Given the description of an element on the screen output the (x, y) to click on. 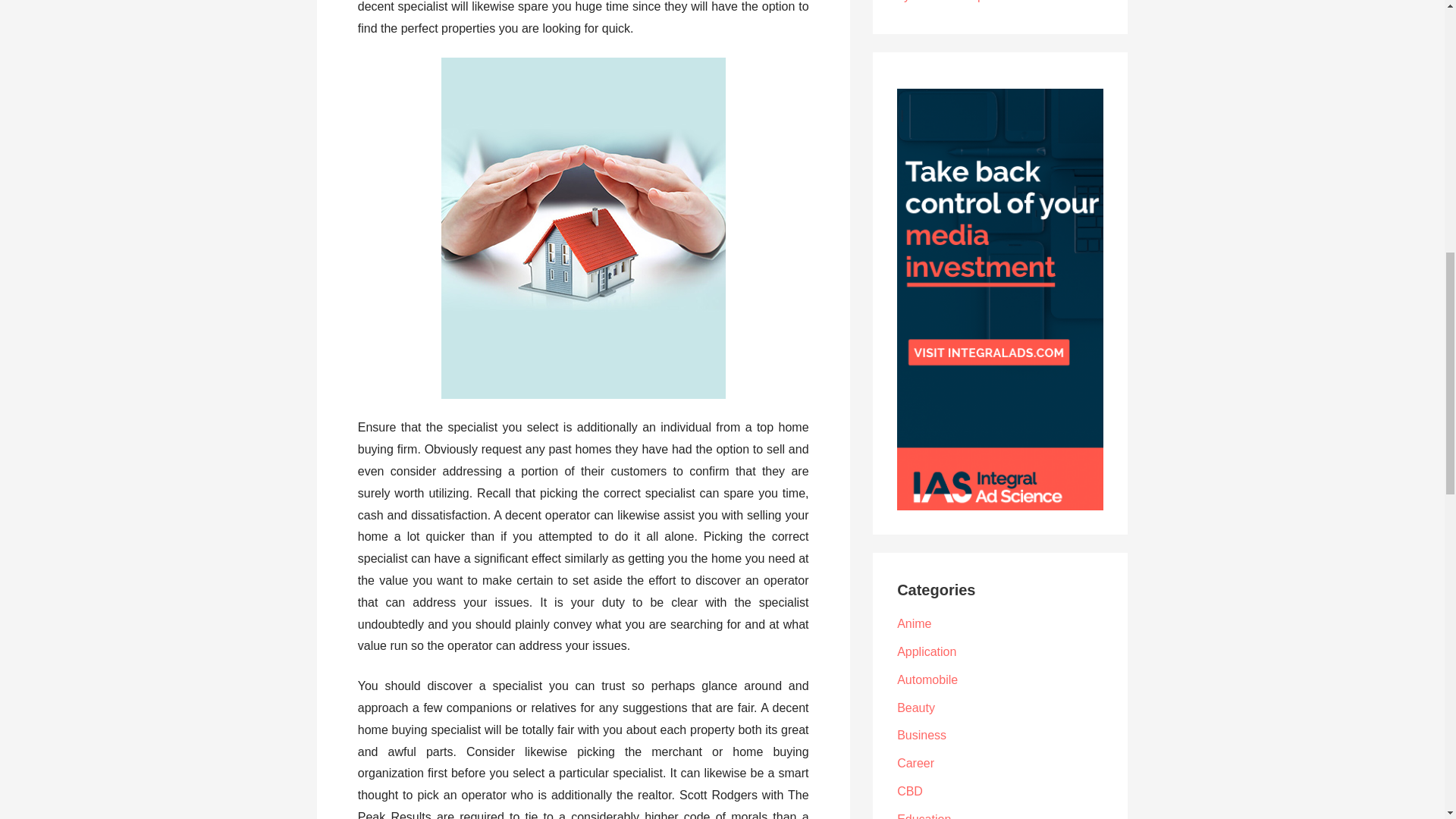
Education (923, 816)
Beauty (915, 707)
Automobile (927, 679)
Career (915, 762)
Anime (913, 623)
Business (921, 735)
Application (926, 651)
CBD (909, 790)
